Given the description of an element on the screen output the (x, y) to click on. 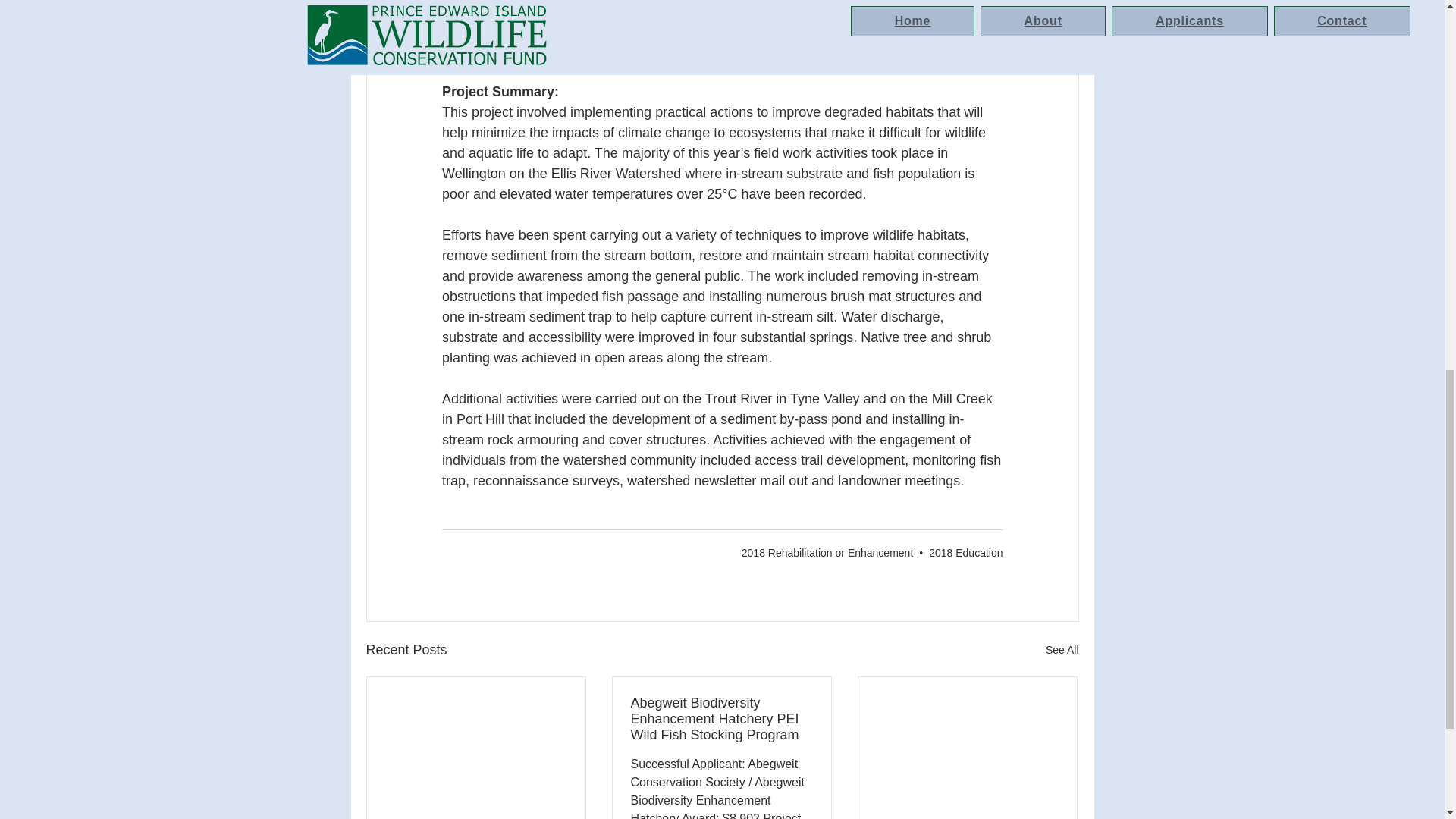
2018 Education (965, 551)
2018 Rehabilitation or Enhancement (827, 551)
See All (1061, 649)
